Given the description of an element on the screen output the (x, y) to click on. 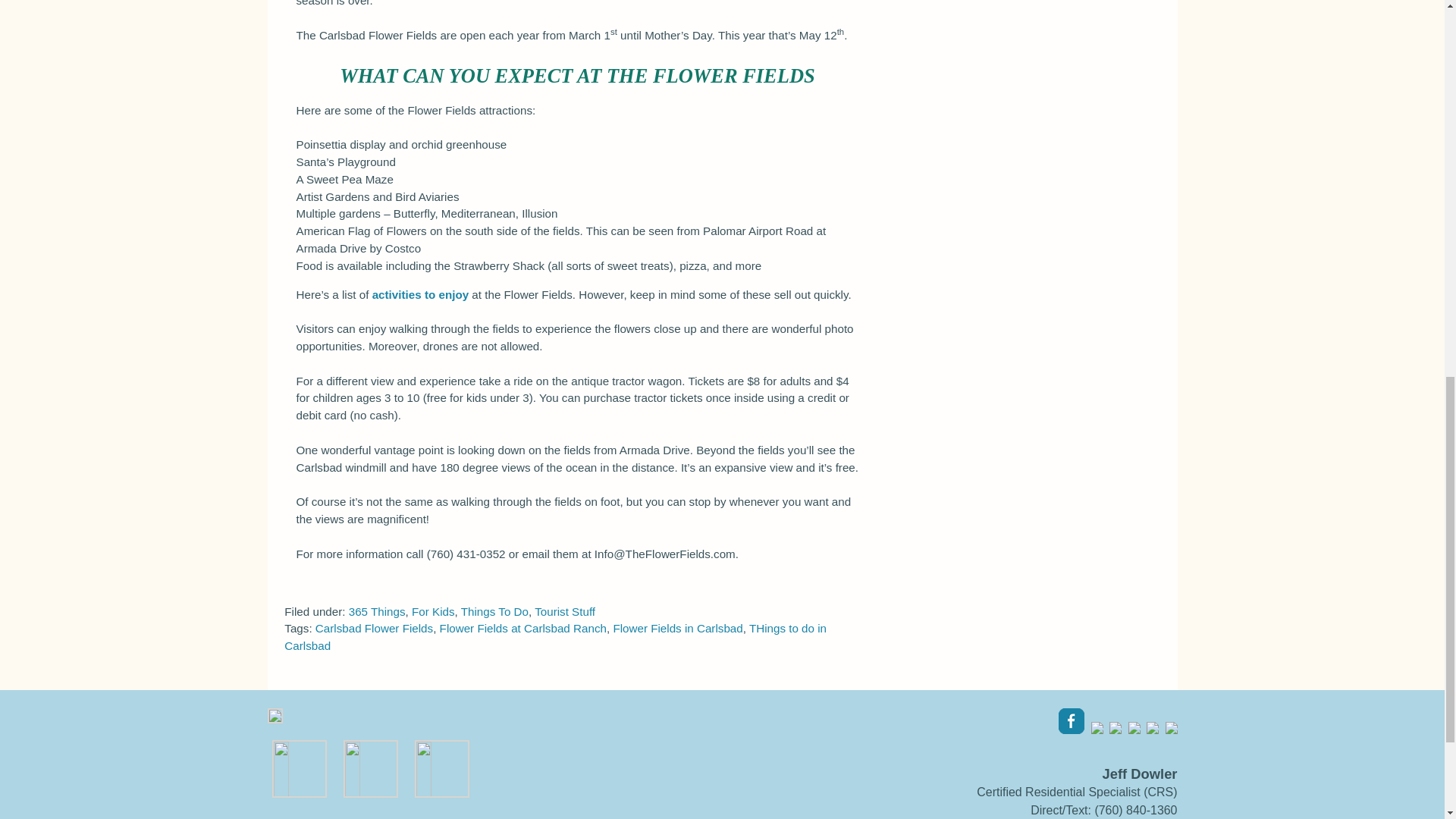
Things To Do (494, 611)
365 Things (377, 611)
For Kids (433, 611)
activities to enjoy (420, 294)
